Given the description of an element on the screen output the (x, y) to click on. 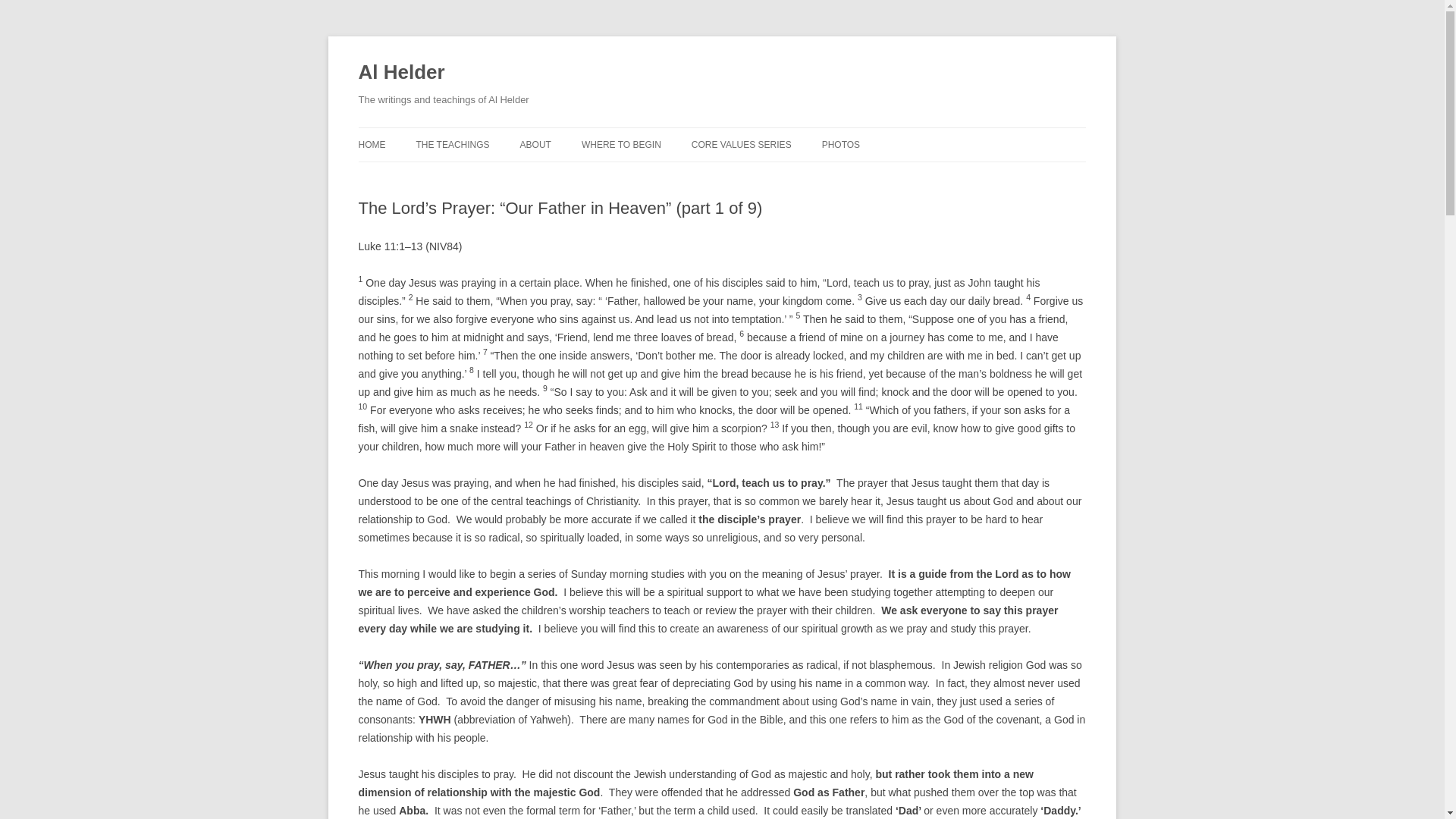
CORE VALUES SERIES (741, 144)
Skip to content (757, 132)
THE TEACHINGS (451, 144)
Skip to content (757, 132)
WHERE TO BEGIN (620, 144)
Al Helder (401, 72)
ABOUT (535, 144)
LEARNING FROM AL (490, 176)
Al Helder (401, 72)
PHOTOS (841, 144)
